Given the description of an element on the screen output the (x, y) to click on. 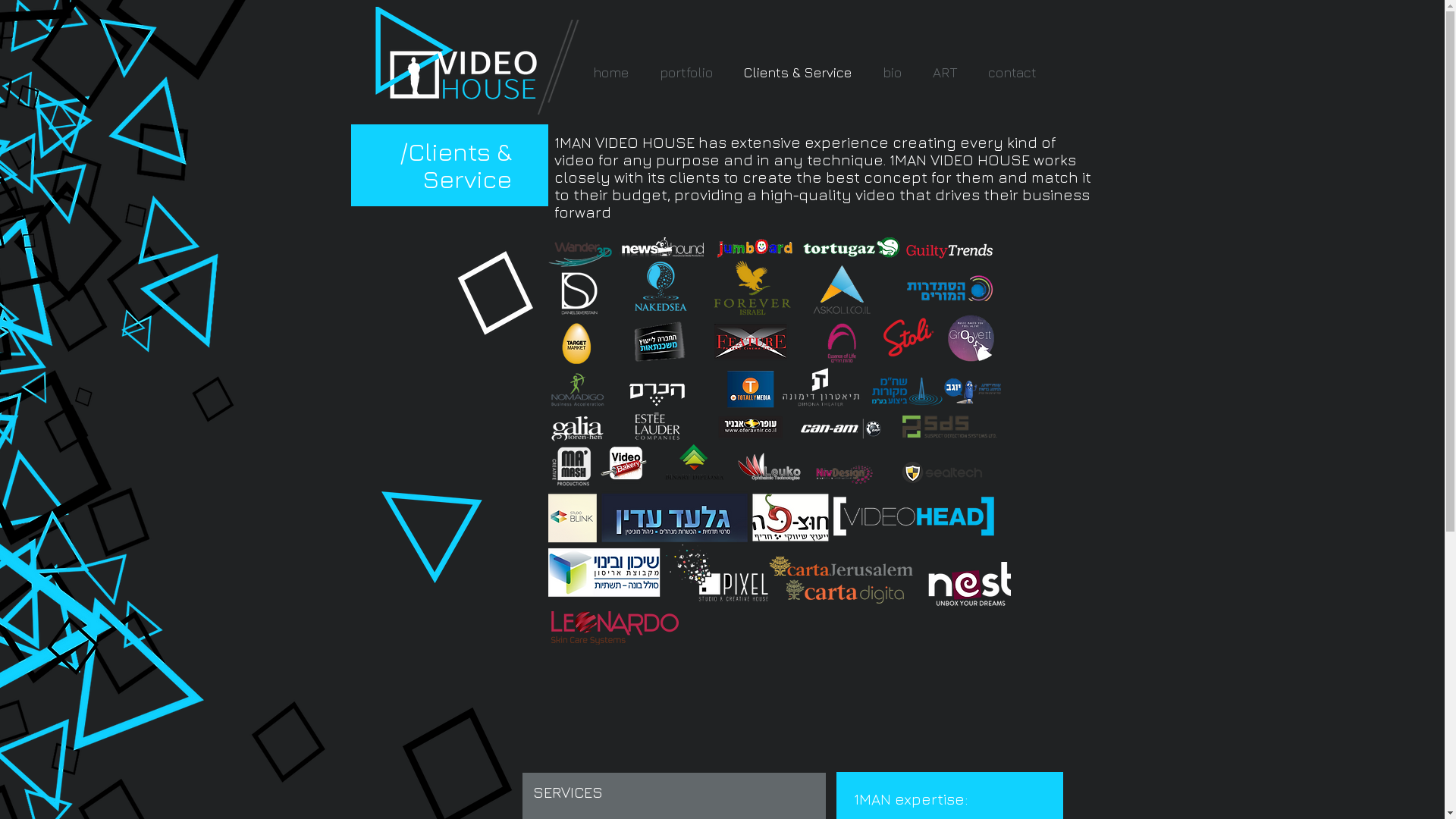
ART Element type: text (944, 72)
home Element type: text (610, 72)
Clients & Service Element type: text (797, 72)
bio Element type: text (892, 72)
contact Element type: text (1011, 72)
